Given the description of an element on the screen output the (x, y) to click on. 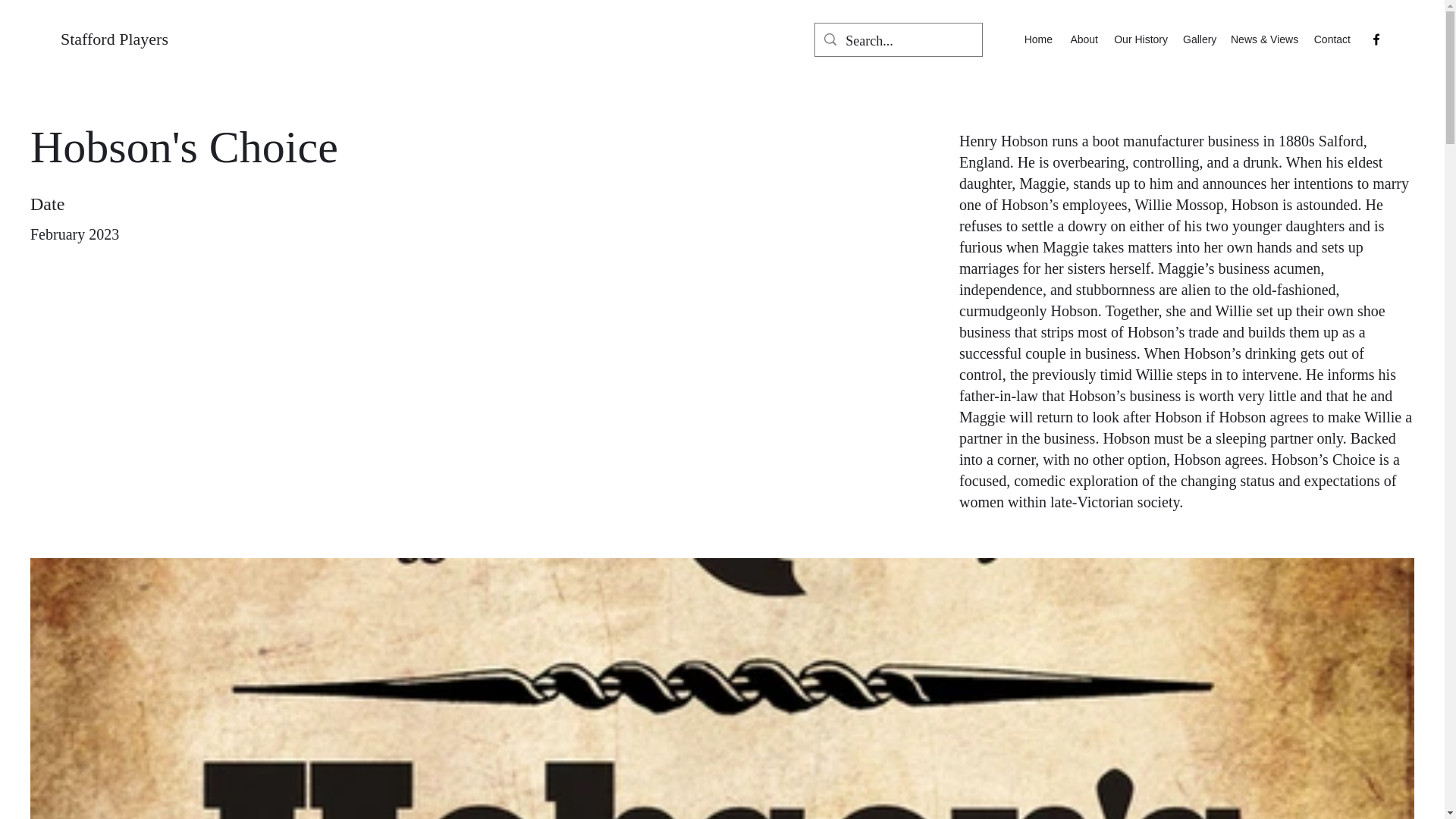
Home (1037, 38)
Gallery (1198, 38)
About (1082, 38)
Contact (1331, 38)
Our History (1139, 38)
